Given the description of an element on the screen output the (x, y) to click on. 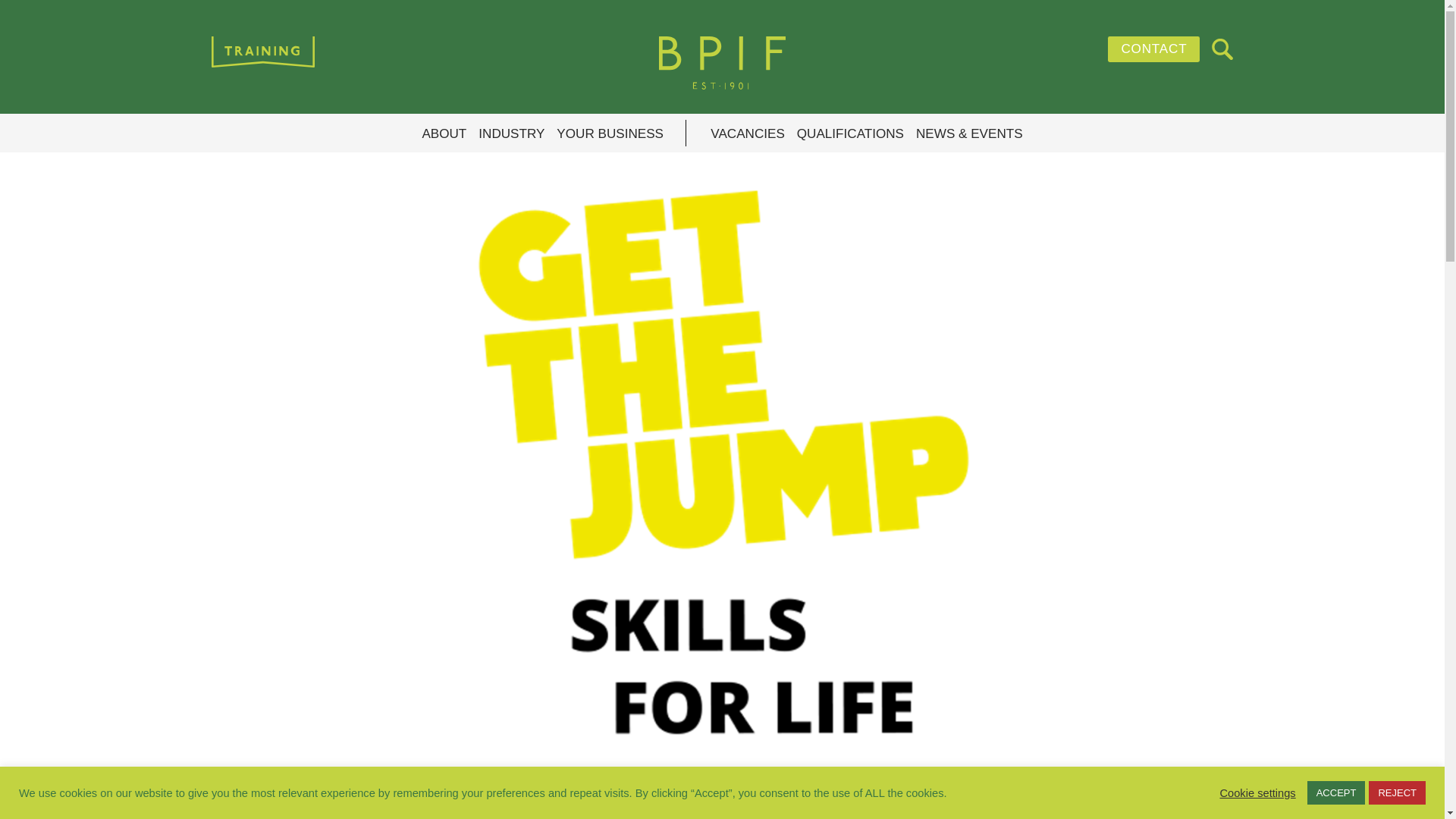
VACANCIES (747, 134)
QUALIFICATIONS (850, 134)
CONTACT (1153, 49)
Toggle search bar (1222, 48)
ABOUT (443, 134)
BPIF Training (721, 62)
INDUSTRY (511, 134)
YOUR BUSINESS (609, 134)
